Given the description of an element on the screen output the (x, y) to click on. 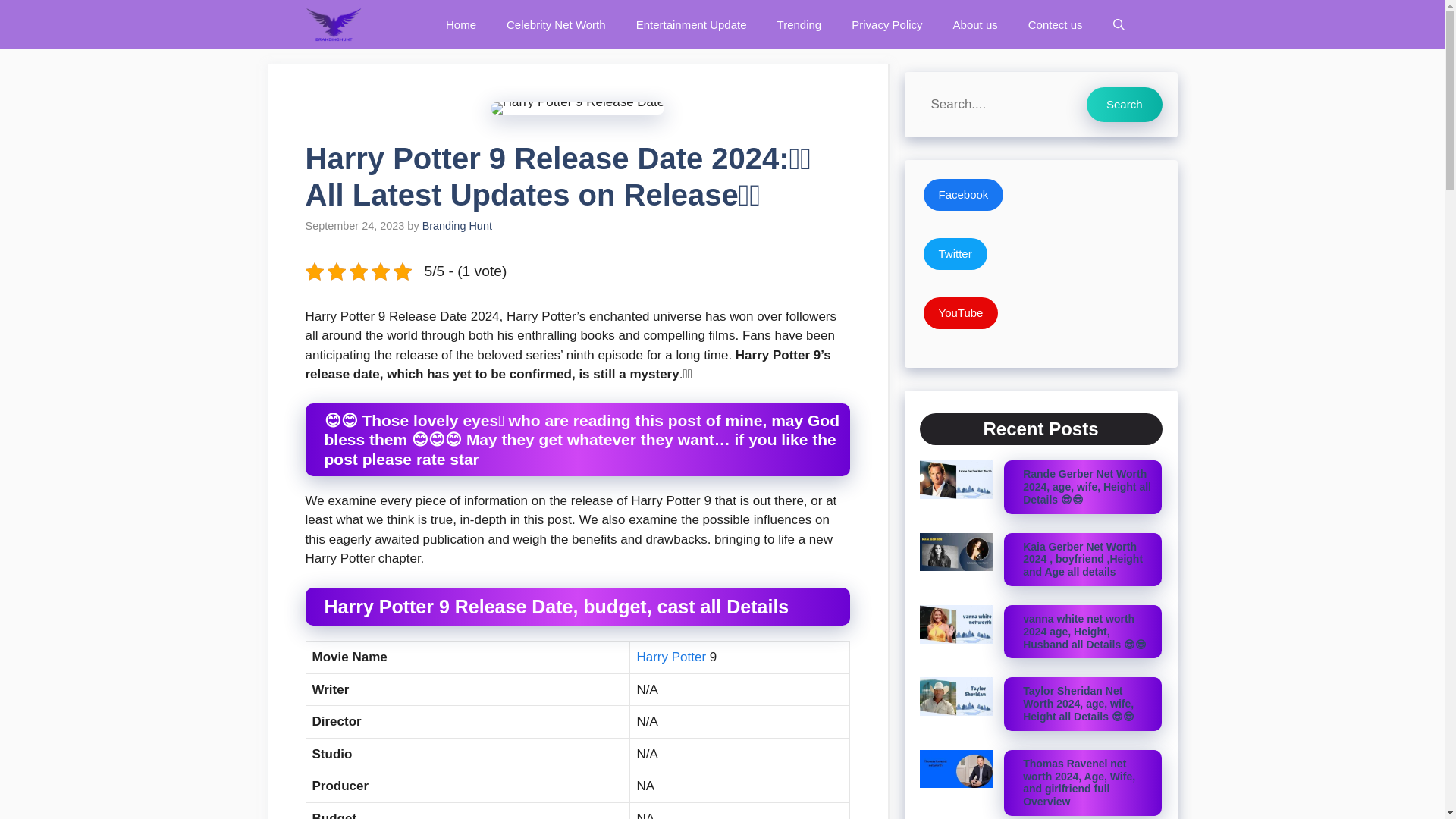
Contect us (1055, 24)
YouTube (960, 313)
Home (461, 24)
About us (975, 24)
View all posts by Branding Hunt (457, 225)
Twitter (955, 254)
Harry Potter (671, 657)
Search (1123, 104)
Trending (799, 24)
Branding Hunt (457, 225)
Facebook (963, 195)
Privacy Policy (886, 24)
Celebrity Net Worth (556, 24)
Branding Hunt (332, 24)
